Given the description of an element on the screen output the (x, y) to click on. 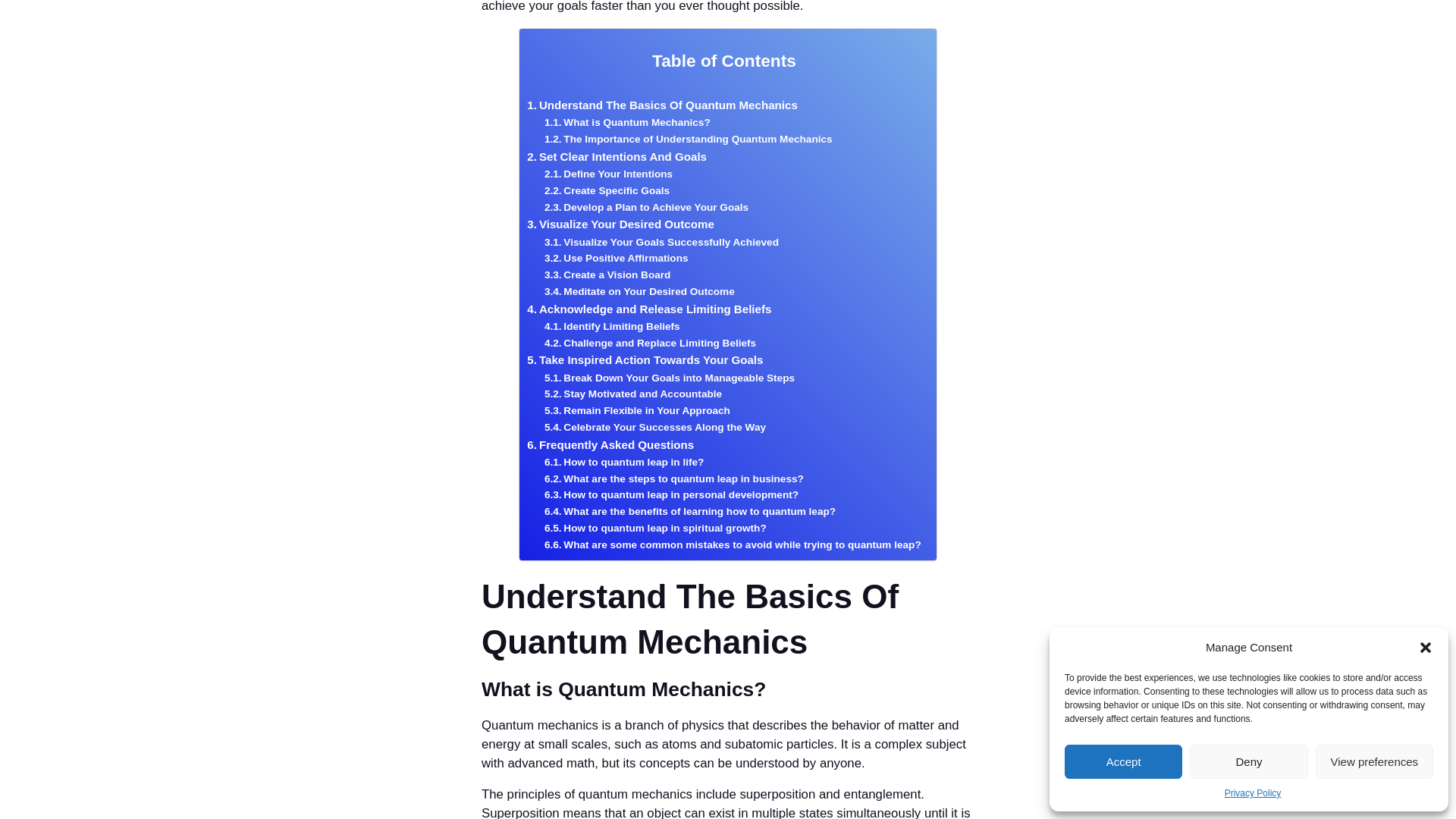
Understand The Basics Of Quantum Mechanics (662, 105)
Understand The Basics Of Quantum Mechanics (662, 105)
Define Your Intentions (608, 174)
Set Clear Intentions And Goals (616, 157)
Visualize Your Goals Successfully Achieved (661, 242)
Meditate on Your Desired Outcome (639, 291)
The Importance of Understanding Quantum Mechanics (688, 139)
Challenge and Replace Limiting Beliefs (649, 343)
Create Specific Goals (606, 190)
Create a Vision Board (606, 274)
Create a Vision Board (606, 274)
Acknowledge and Release Limiting Beliefs (649, 309)
Set Clear Intentions And Goals (616, 157)
Visualize Your Desired Outcome (620, 224)
The Importance of Understanding Quantum Mechanics (688, 139)
